Given the description of an element on the screen output the (x, y) to click on. 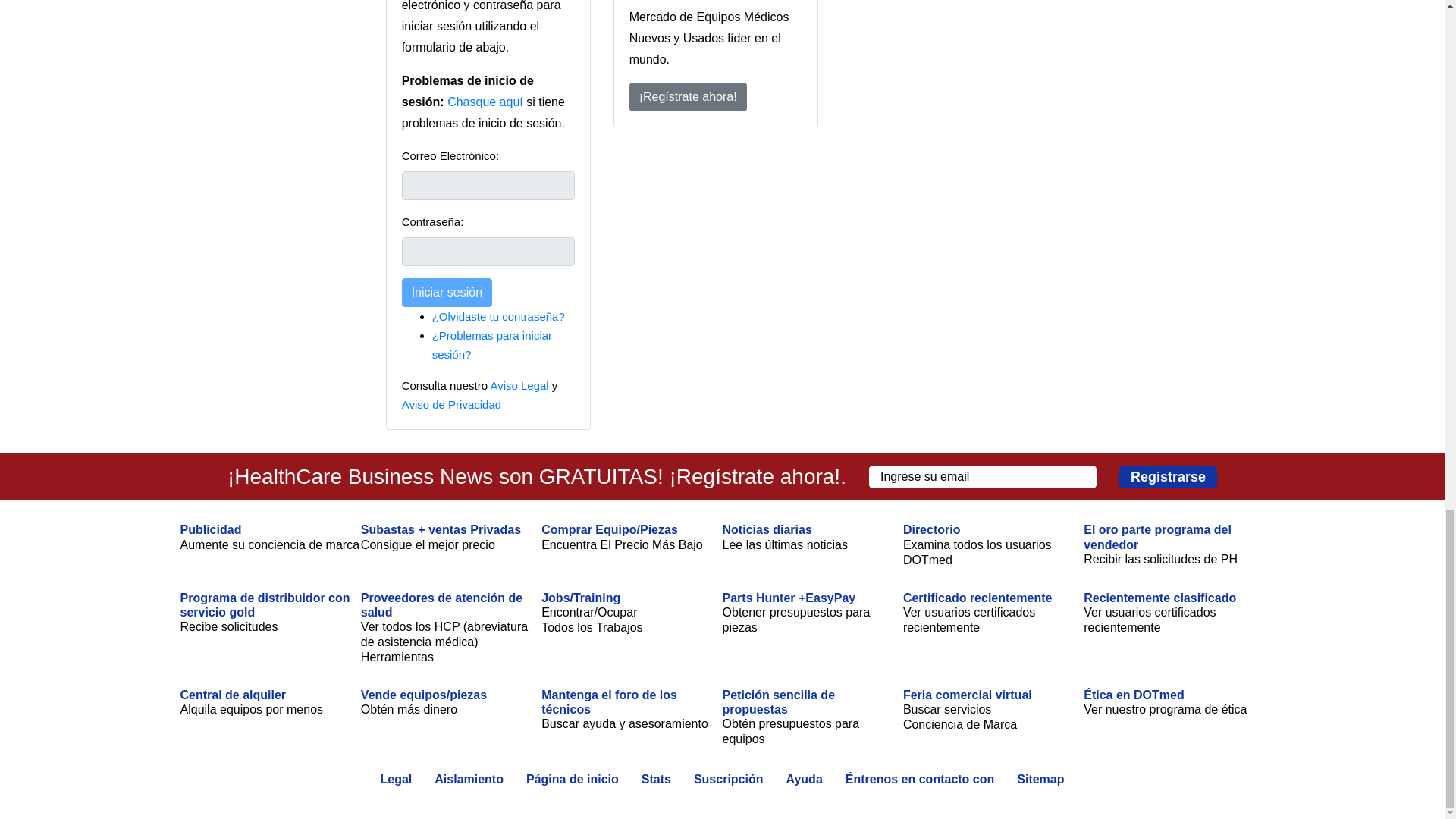
Register Now! (687, 96)
Login Problems? (491, 345)
Forget your password? (498, 316)
